Given the description of an element on the screen output the (x, y) to click on. 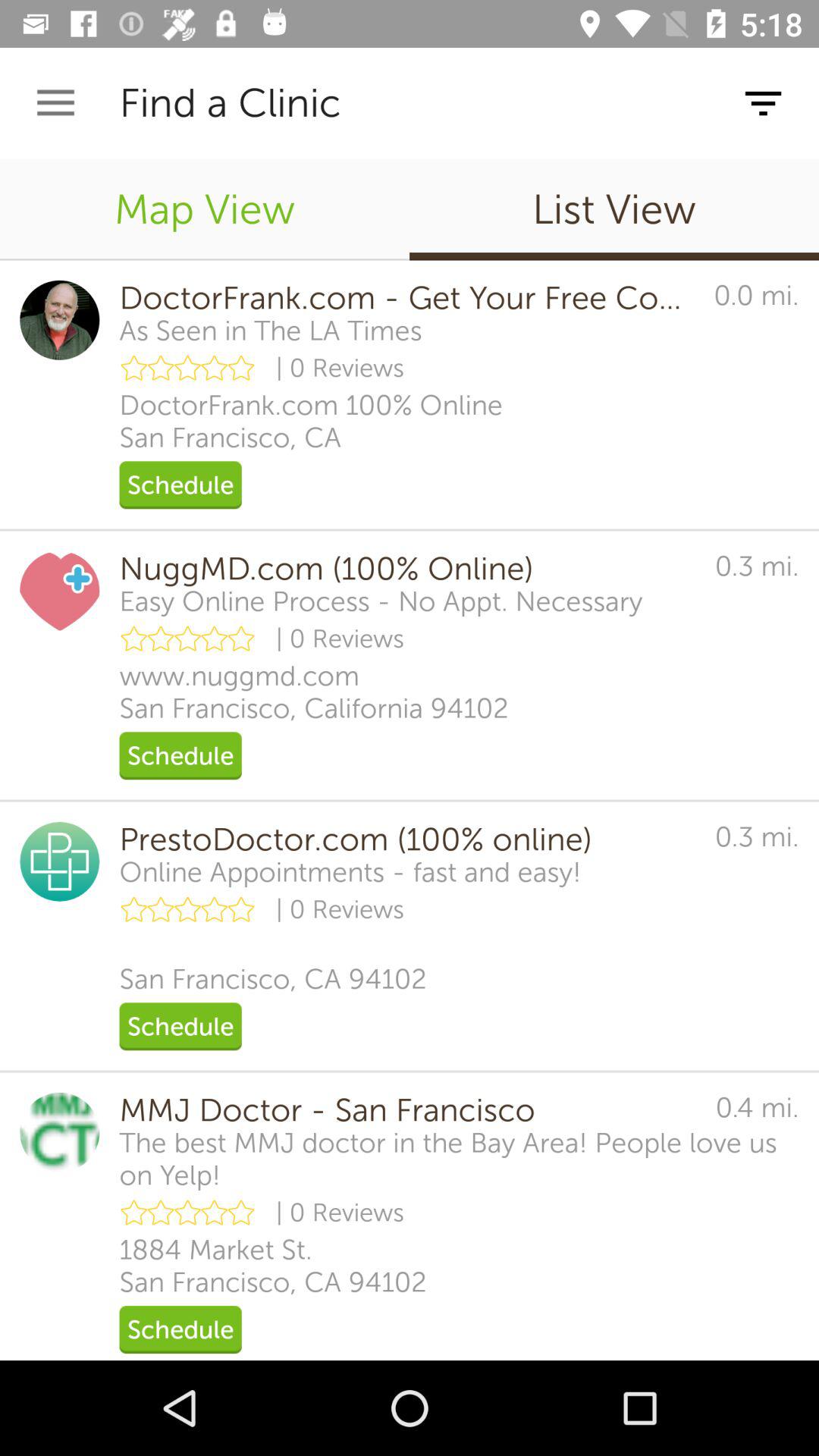
turn off icon next to find a clinic item (55, 103)
